Given the description of an element on the screen output the (x, y) to click on. 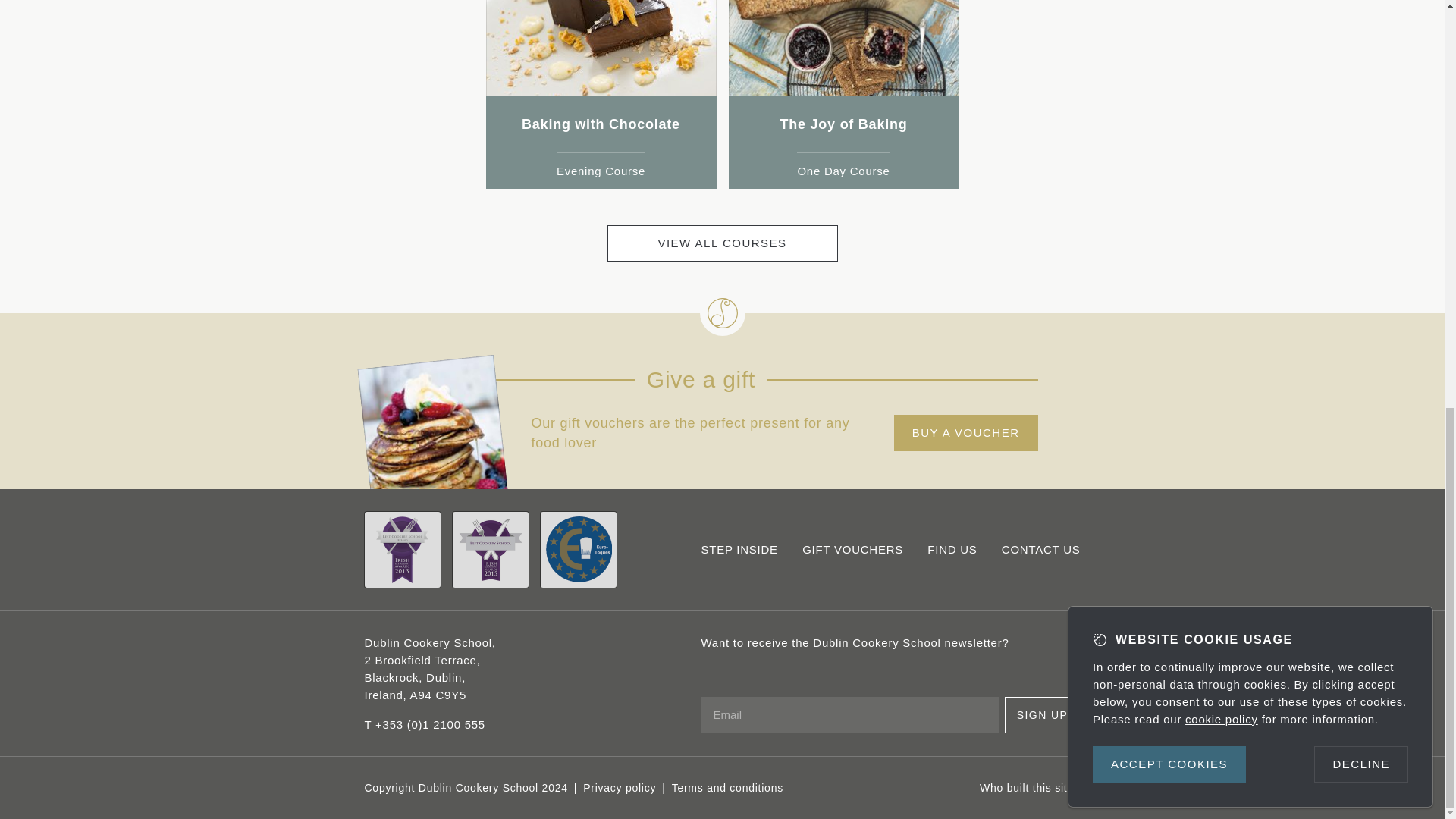
GIFT VOUCHERS (852, 549)
Best Cookery School - Irish Restaurant Awards 2015 (489, 549)
Best Cookery School Ireland - Irish Restaurant Awards 2013 (401, 549)
The Joy of Baking (843, 124)
BUY A VOUCHER (965, 432)
STEP INSIDE (738, 549)
Baking with Chocolate (600, 124)
CONTACT US (1040, 549)
VIEW ALL COURSES (722, 243)
FIND US (951, 549)
Euro-Toques (577, 549)
